Given the description of an element on the screen output the (x, y) to click on. 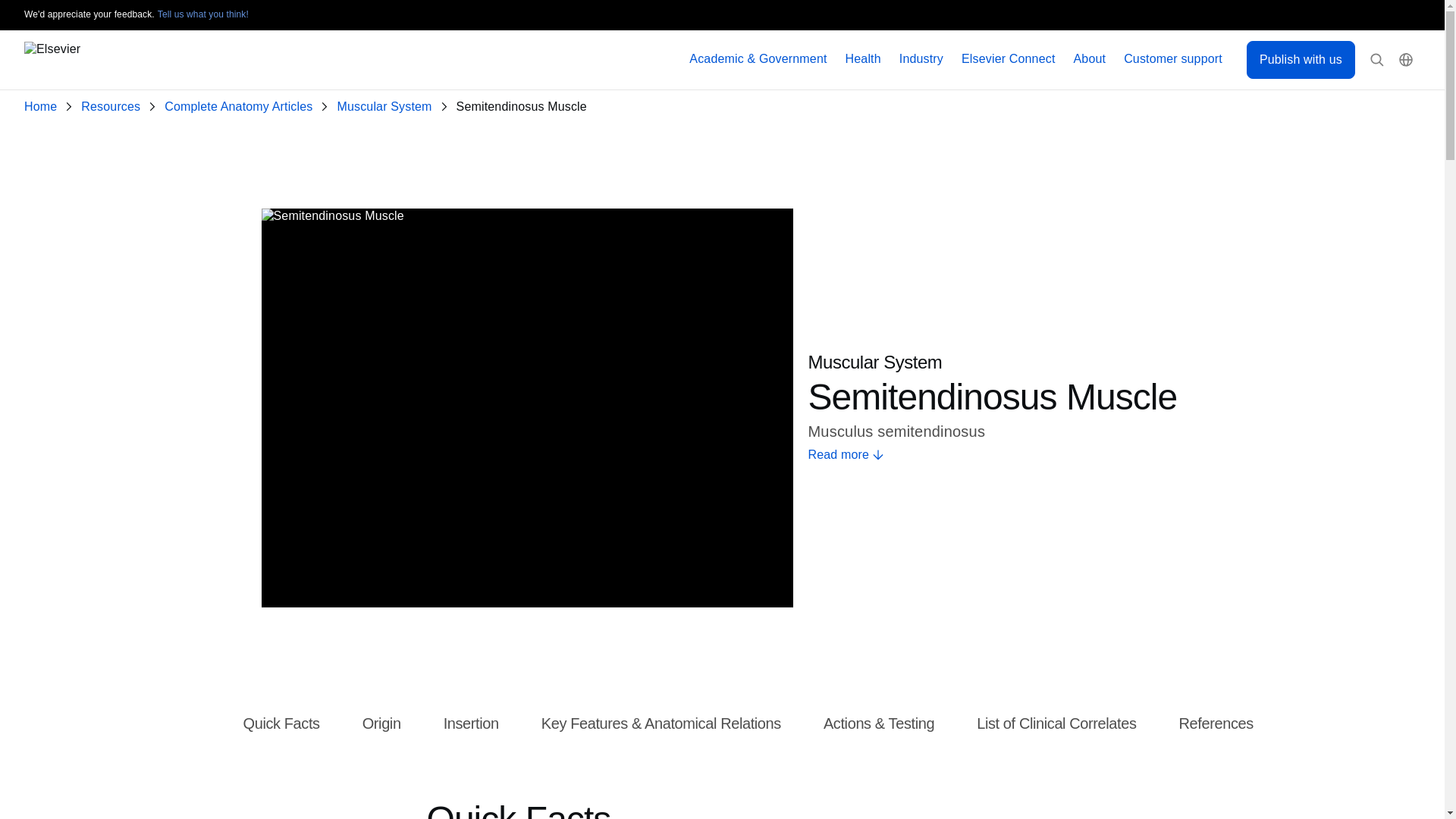
Publish with us (1300, 59)
References (1216, 724)
Complete Anatomy Articles (241, 107)
List of Clinical Correlates (1055, 724)
Elsevier Connect (1007, 59)
Open Search (1376, 59)
Location Selector (1406, 59)
Resources (114, 107)
Insertion (471, 724)
Origin (381, 724)
